Given the description of an element on the screen output the (x, y) to click on. 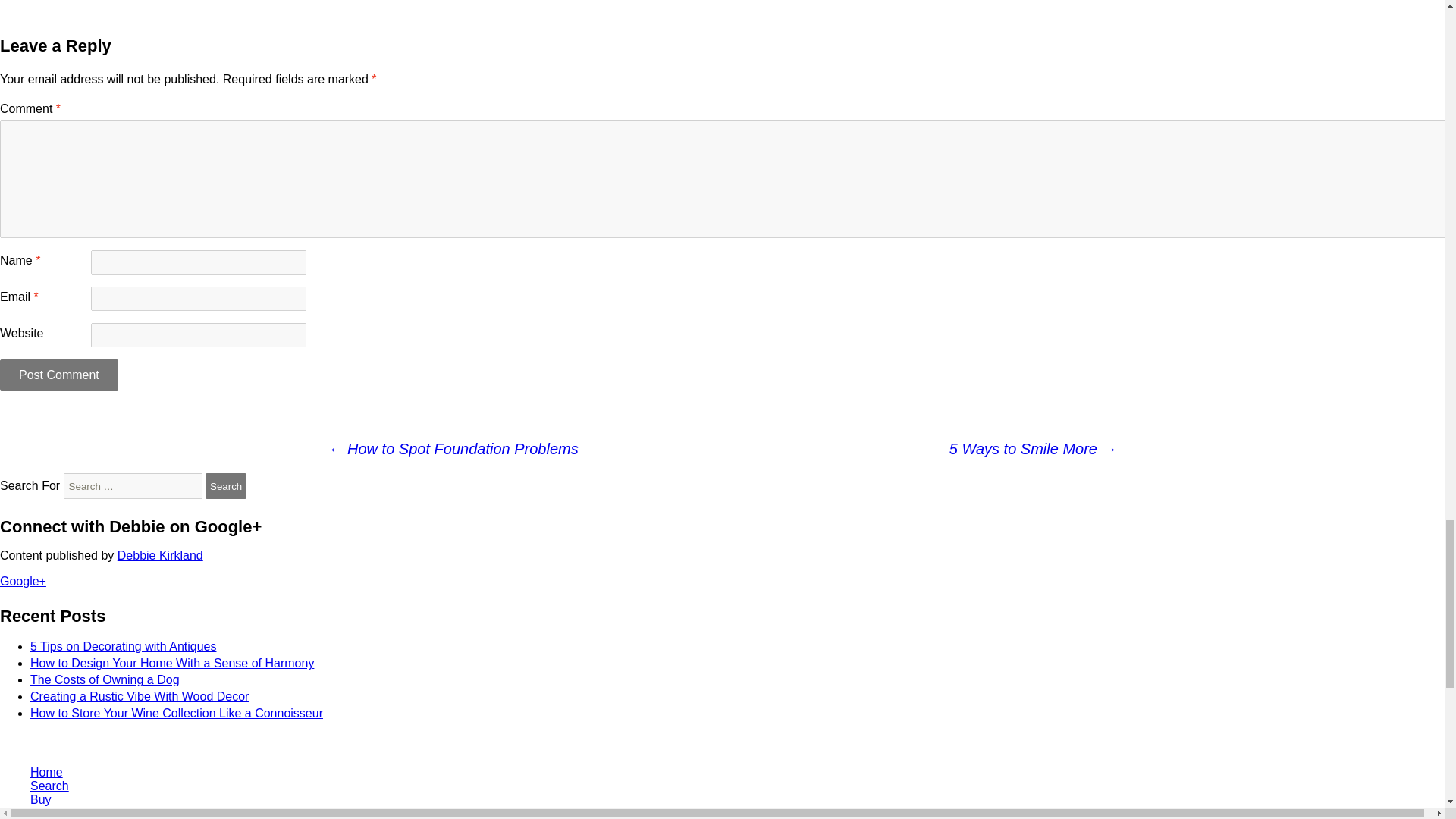
Post Comment (58, 374)
Search (225, 485)
Search (225, 485)
Search for: (133, 485)
